Given the description of an element on the screen output the (x, y) to click on. 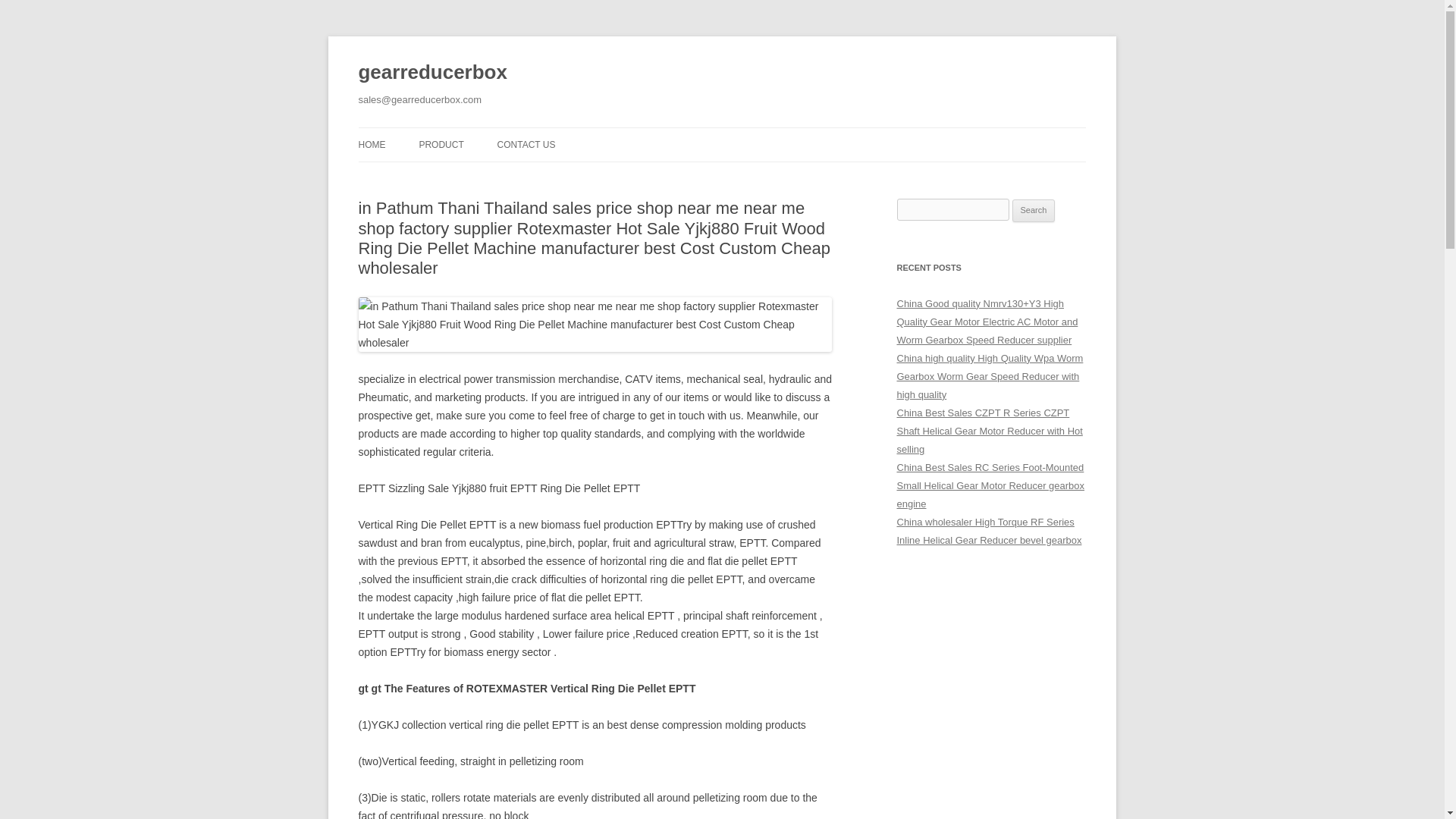
Search (1033, 210)
Search (1033, 210)
HOME (371, 144)
gearreducerbox (432, 72)
PRODUCT (441, 144)
CONTACT US (526, 144)
gearreducerbox (432, 72)
